Given the description of an element on the screen output the (x, y) to click on. 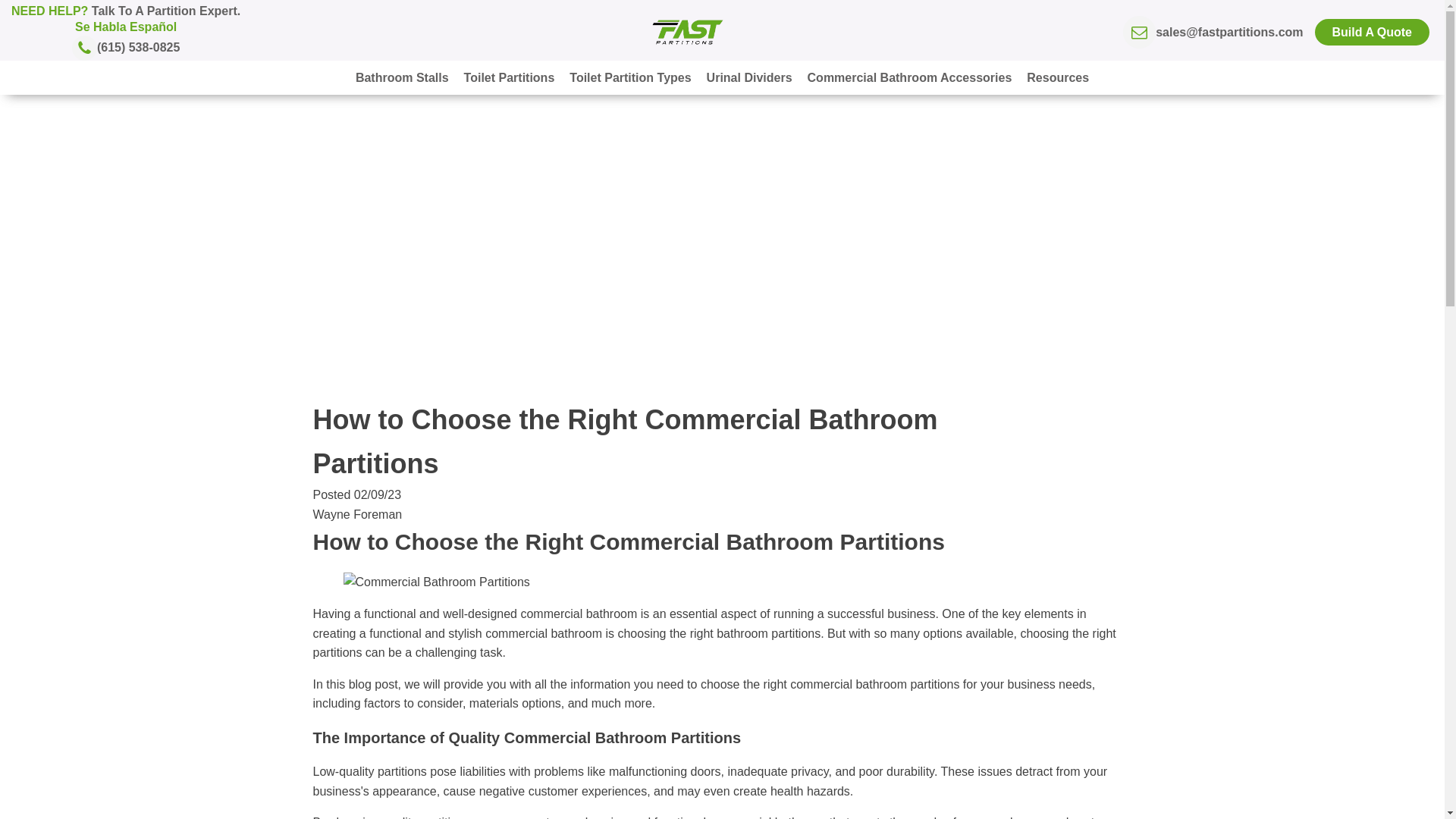
Resources (1057, 77)
Essential Commercial Bathroom Accessories (909, 77)
Commercial Bathroom Accessories (909, 77)
Toilet Partition Types (630, 77)
Urinal Dividers (748, 77)
Commercial Toilet Partitions (509, 77)
Toilet Partitions (509, 77)
Complete commercial bathroom stalls (402, 77)
Build A Quote (1371, 31)
Bathroom Stalls (402, 77)
